Given the description of an element on the screen output the (x, y) to click on. 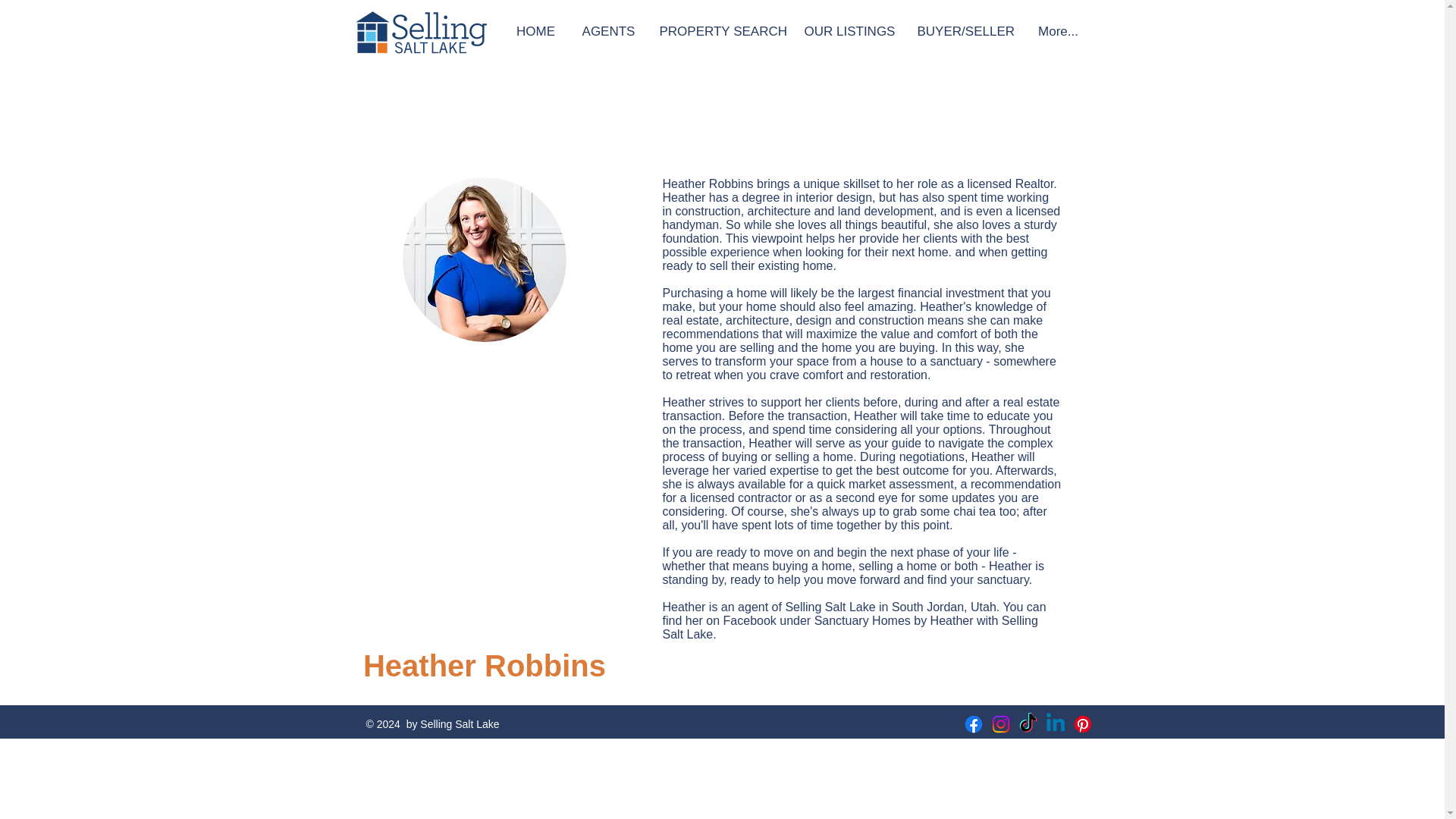
PROPERTY SEARCH (719, 31)
AGENTS (608, 31)
guy2.jpg (483, 259)
OUR LISTINGS (849, 31)
HOME (535, 31)
